Given the description of an element on the screen output the (x, y) to click on. 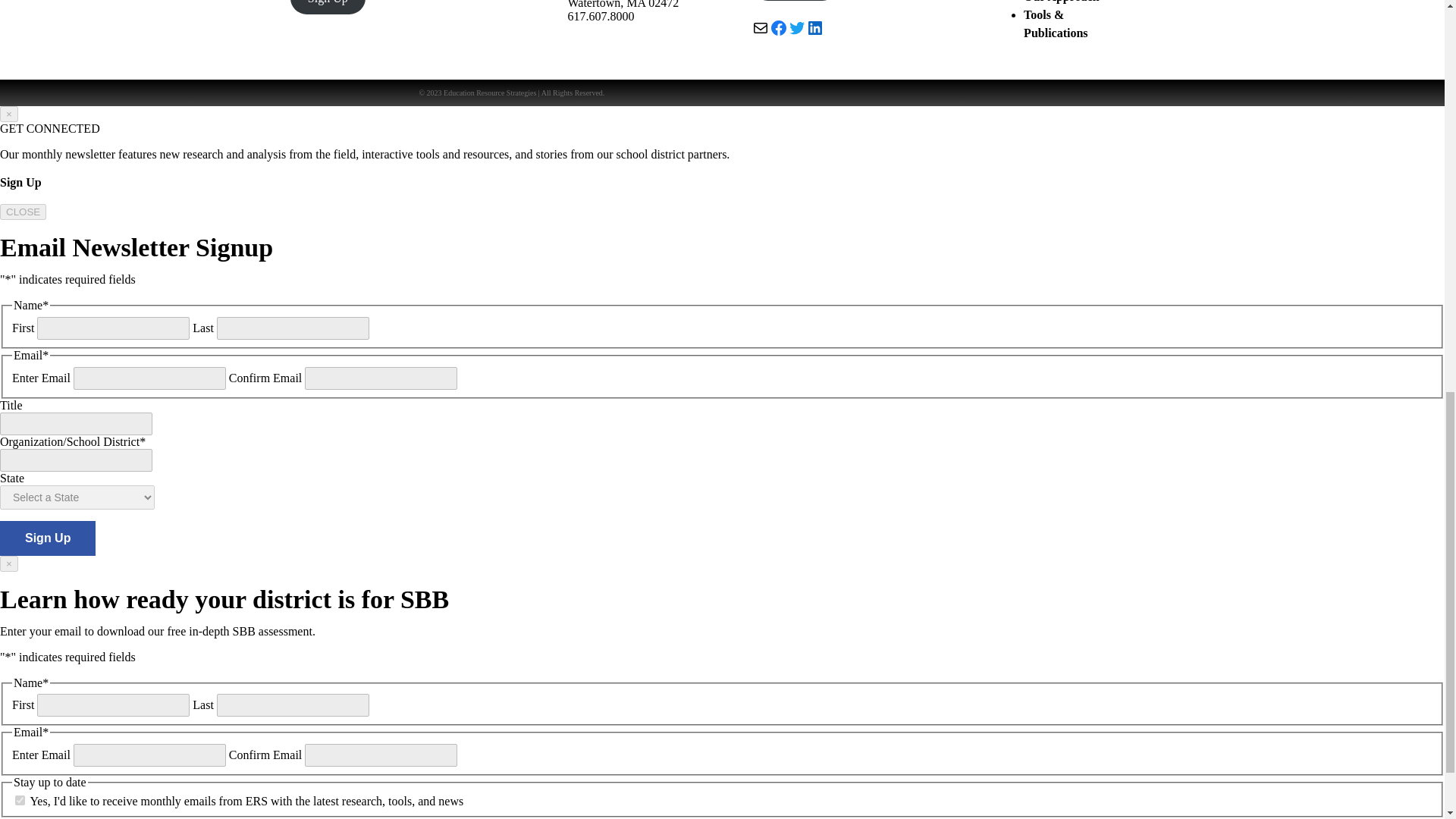
Facebook (778, 27)
Twitter (796, 27)
Our Approach (1061, 1)
LinkedIn (815, 27)
Mail (760, 27)
Sign Up (327, 7)
Sign Up (48, 538)
